Given the description of an element on the screen output the (x, y) to click on. 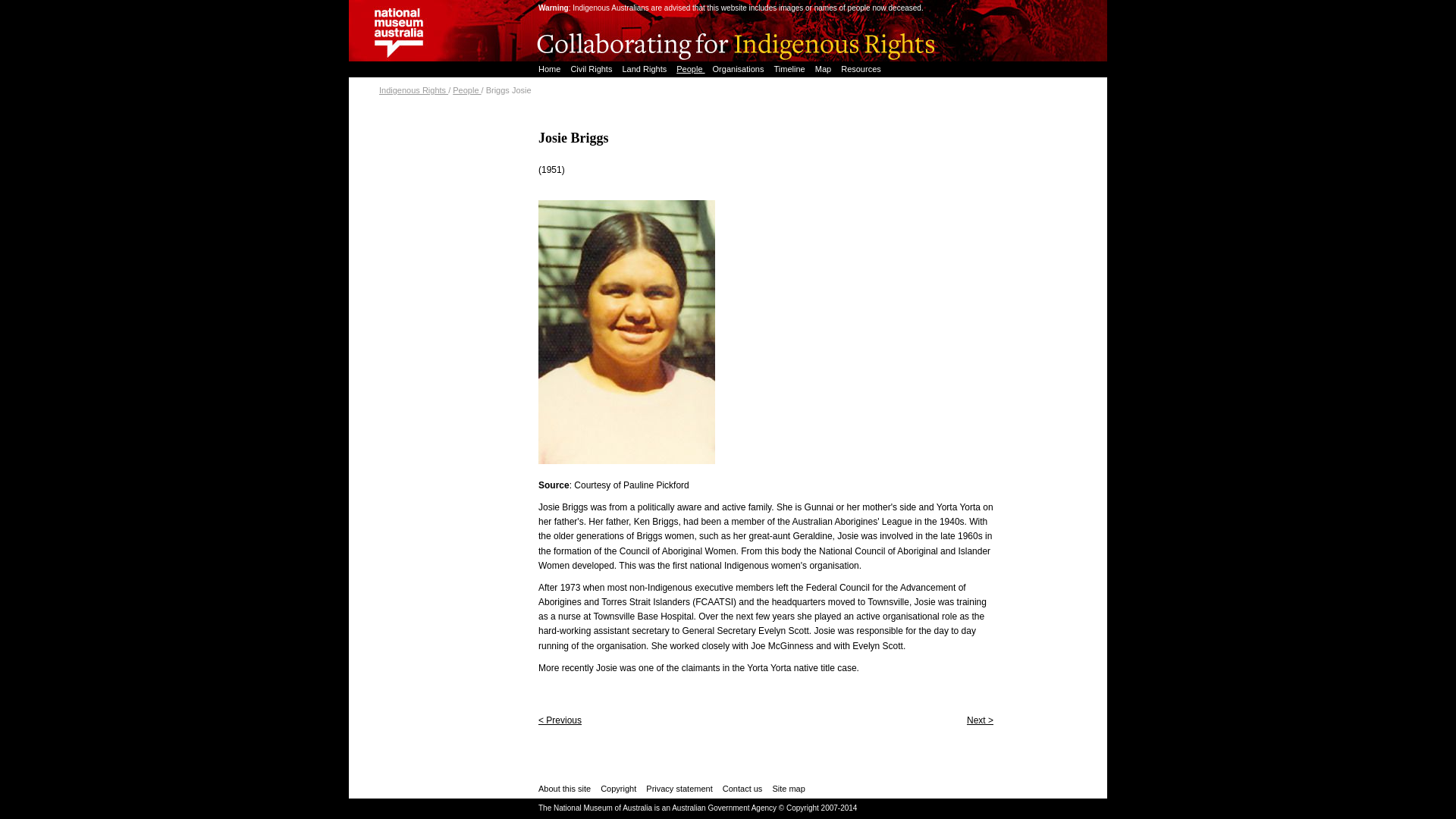
People (686, 68)
Contact us (742, 788)
Site map (788, 788)
Land Rights (641, 68)
People (466, 90)
Organisations (735, 68)
Civil Rights (588, 68)
Home (546, 68)
Resources (856, 68)
Copyright (617, 788)
Map (820, 68)
Timeline (785, 68)
Jump to content (381, 7)
About this site (564, 788)
